Given the description of an element on the screen output the (x, y) to click on. 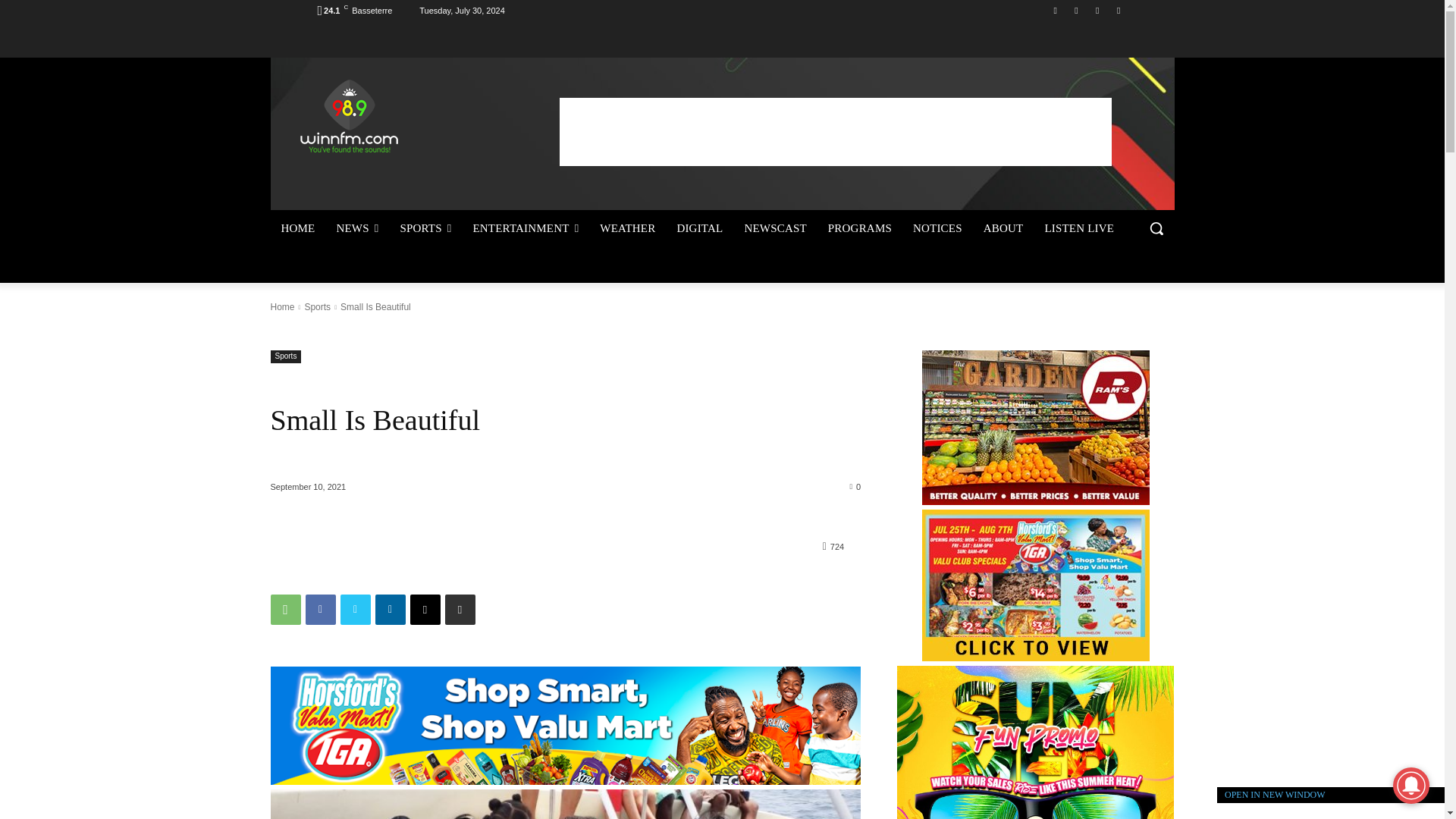
Facebook (1055, 9)
Twitter (1097, 9)
NEWS (356, 227)
Instagram (1075, 9)
Advertisement (835, 131)
Youtube (1117, 9)
HOME (296, 227)
